Given the description of an element on the screen output the (x, y) to click on. 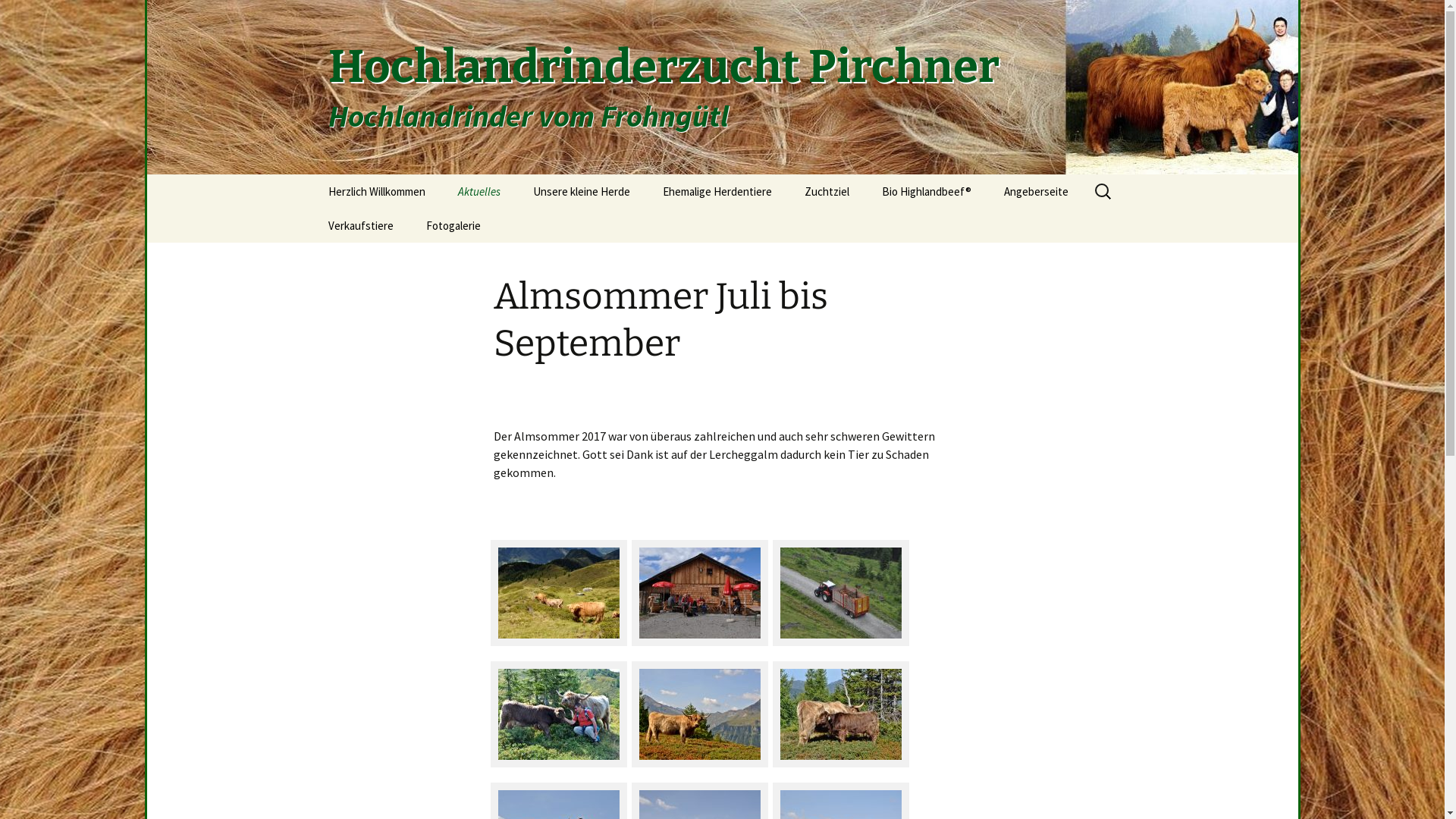
Virtual Highlandcattle Show 2022 Element type: text (1064, 231)
Verkaufstiere Element type: text (359, 225)
Herzlich Willkommen Element type: text (375, 191)
Fotogalerie Element type: text (453, 225)
Suche Element type: text (18, 16)
Angeberseite Element type: text (1035, 191)
Zum Inhalt springen Element type: text (312, 173)
Aktuelles Element type: text (478, 191)
Zuchtziel Element type: text (825, 191)
Unsere kleine Herde Element type: text (580, 191)
Ehemalige Herdentiere Element type: text (717, 191)
